Given the description of an element on the screen output the (x, y) to click on. 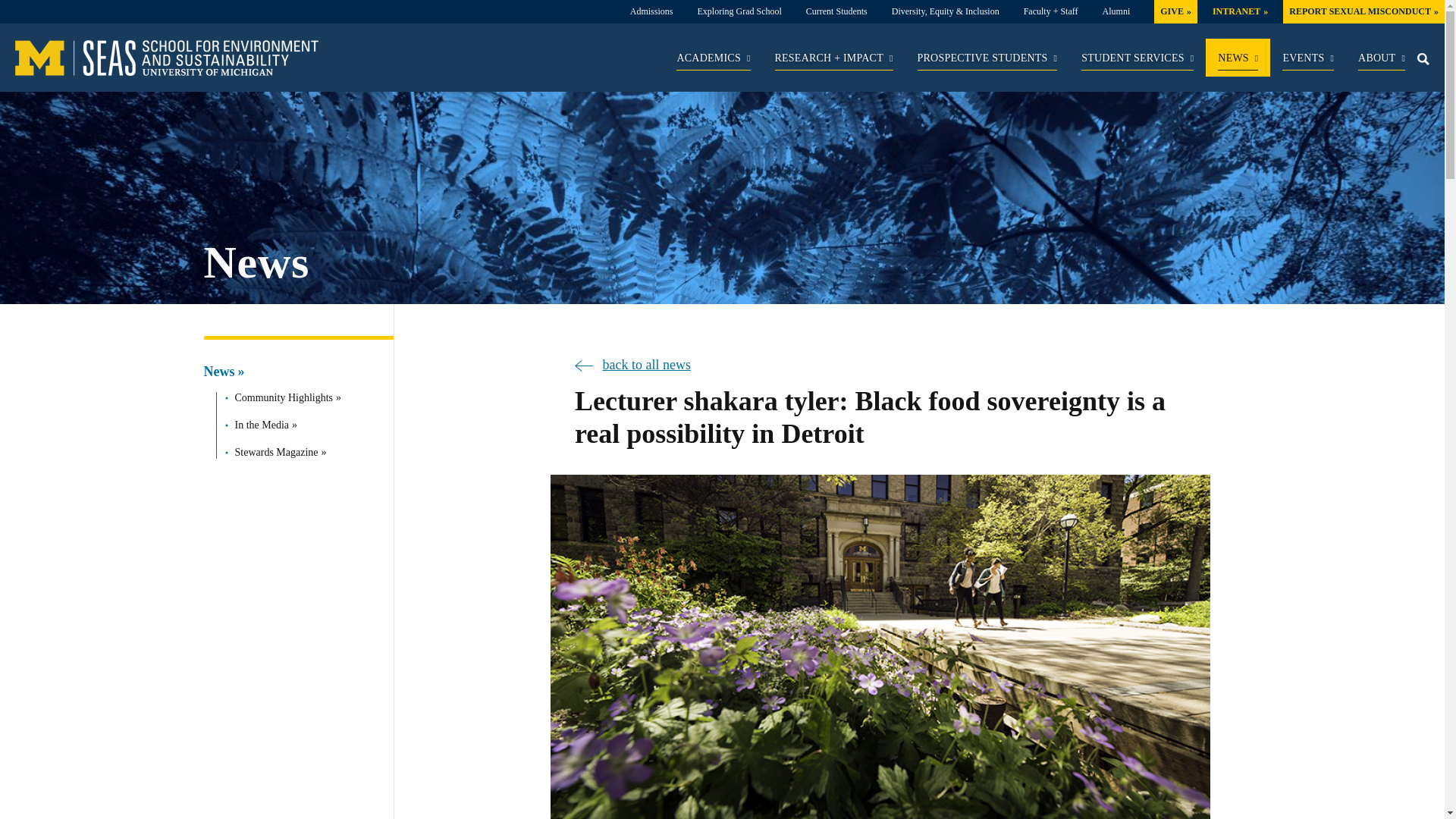
Alumni (1116, 10)
Current Students (836, 10)
Admissions (651, 10)
ACADEMICS (713, 61)
GIVE (1175, 10)
INTRANET (1240, 10)
Exploring Grad School (738, 10)
REPORT SEXUAL MISCONDUCT (1363, 10)
PROSPECTIVE STUDENTS (987, 61)
